Given the description of an element on the screen output the (x, y) to click on. 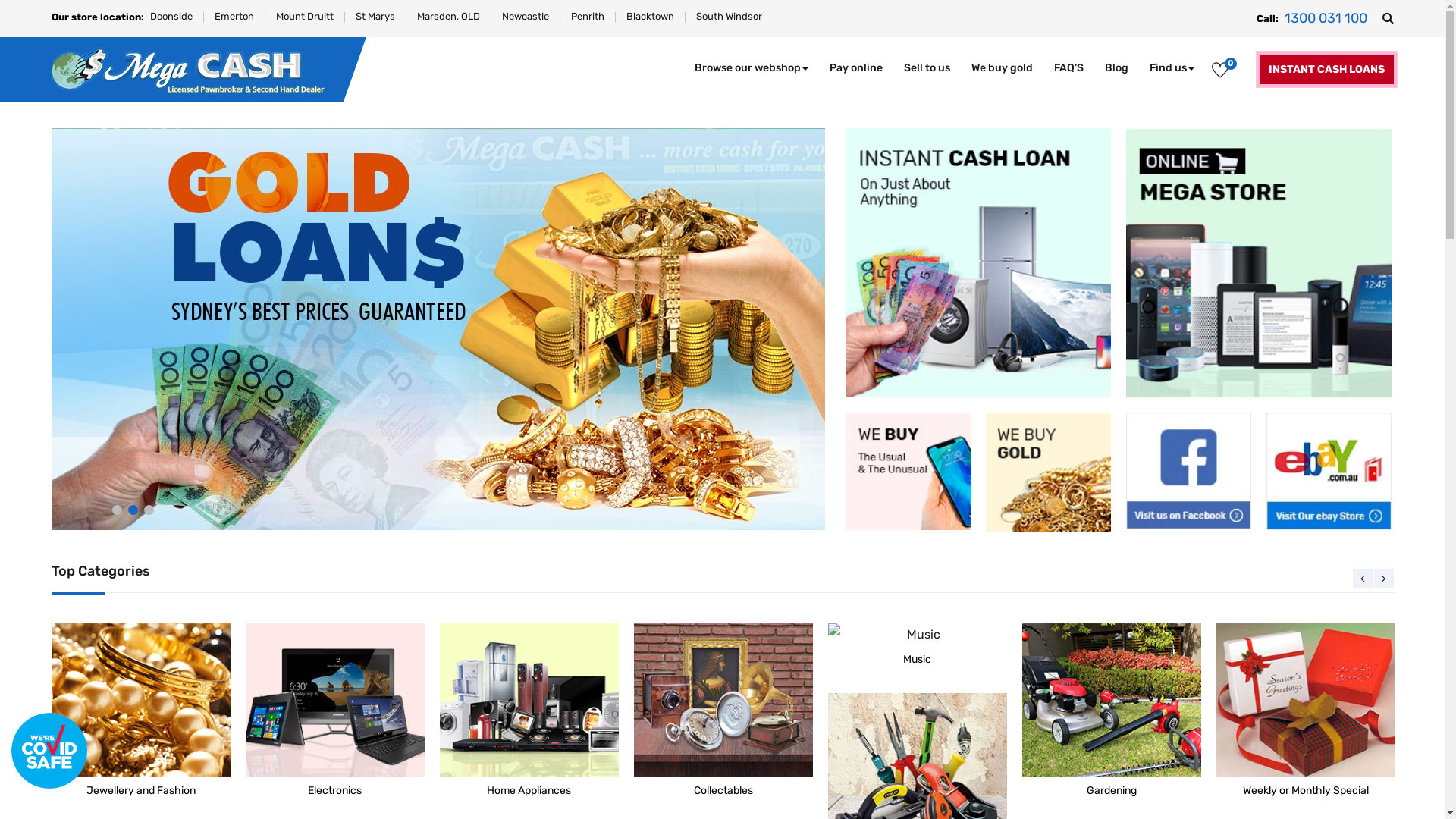
Penrith Element type: text (586, 15)
INSTANT CASH LOANS Element type: text (1325, 69)
St Marys Element type: text (374, 15)
1300 031 100 Element type: text (1325, 17)
Jewellery and Fashion Element type: hover (140, 700)
Music Element type: hover (917, 634)
Gardening Element type: hover (1111, 700)
Find us Element type: text (1171, 67)
Collectables Element type: hover (722, 700)
Instant cash loan Element type: hover (977, 262)
Visit us on facebook Element type: hover (1188, 470)
Home Appliances Element type: text (528, 714)
Emerton Element type: text (233, 15)
Browse our webshop Element type: text (751, 67)
Previous Element type: text (1362, 578)
Pay online Element type: text (855, 67)
We buy gold Element type: hover (1047, 471)
South Windsor Element type: text (729, 15)
Visit our ebay store Element type: hover (1328, 471)
Music Element type: text (917, 648)
Collectables Element type: text (722, 714)
Next Element type: text (1383, 578)
Weekly or Monthly Special Element type: hover (1305, 700)
Blog Element type: text (1115, 67)
Gardening Element type: text (1111, 714)
Electronics Element type: hover (334, 700)
Search Element type: hover (1387, 17)
0 Element type: text (1219, 72)
Sell to us Element type: text (926, 67)
We buy gold Element type: text (1001, 67)
Newcastle Element type: text (525, 15)
Home Appliances Element type: hover (528, 700)
Electronics Element type: text (334, 714)
Mount Druitt Element type: text (304, 15)
Weekly or Monthly Special Element type: text (1305, 714)
Marsden, QLD Element type: text (448, 15)
Doonside Element type: text (171, 15)
Jewellery and Fashion Element type: text (140, 714)
Blacktown Element type: text (650, 15)
We buy second hand goods Element type: hover (907, 471)
Online mega store Element type: hover (1258, 262)
